Given the description of an element on the screen output the (x, y) to click on. 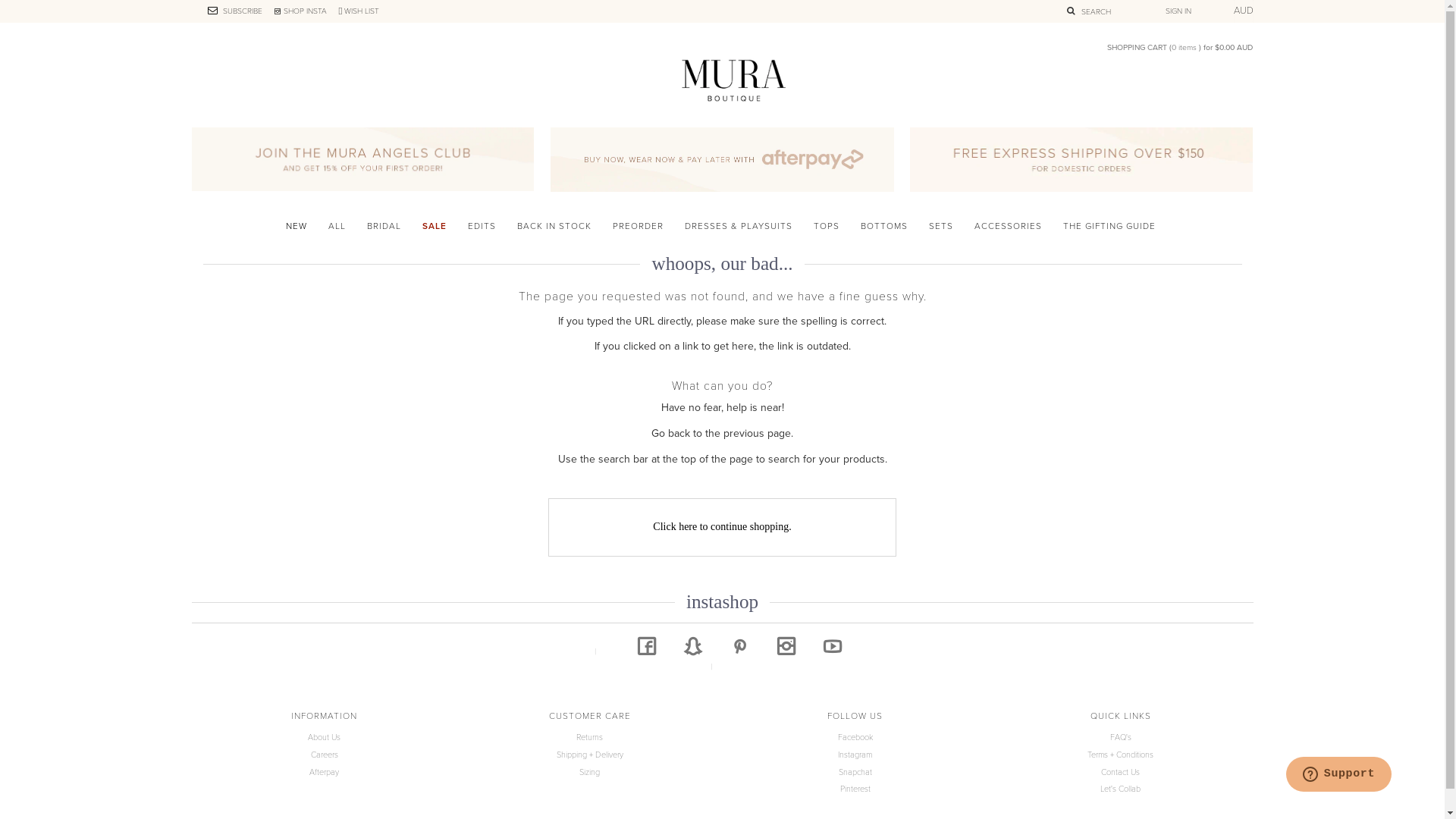
Returns Element type: text (589, 737)
NEW Element type: text (296, 226)
About Us Element type: text (323, 737)
PREORDER Element type: text (637, 226)
Pinterest Element type: text (855, 788)
Careers Element type: text (324, 754)
THE GIFTING GUIDE Element type: text (1109, 226)
Contact Us Element type: text (1120, 772)
SIGN IN Element type: text (1178, 10)
DRESSES & PLAYSUITS Element type: text (738, 226)
Snapchat Element type: text (855, 772)
SHOPPING CART (0 items ) for $0.00 AUD Element type: text (1179, 47)
ACCESSORIES Element type: text (1008, 226)
BRIDAL Element type: text (383, 226)
TOPS Element type: text (826, 226)
Facebook Element type: text (854, 737)
Instagram Element type: text (854, 754)
Afterpay Element type: text (323, 772)
FAQ's Element type: text (1120, 737)
Let's Collab Element type: text (1120, 788)
SEARCH Element type: text (1095, 11)
BOTTOMS Element type: text (883, 226)
SETS Element type: text (940, 226)
EDITS Element type: text (481, 226)
Click here to continue shopping. Element type: text (721, 527)
SUBSCRIBE Element type: text (232, 10)
Sizing Element type: text (589, 772)
SALE Element type: text (434, 226)
BACK IN STOCK Element type: text (554, 226)
Opens a widget where you can find more information Element type: hover (1338, 775)
Shipping + Delivery Element type: text (589, 754)
ALL Element type: text (336, 226)
Terms + Conditions Element type: text (1120, 754)
